Given the description of an element on the screen output the (x, y) to click on. 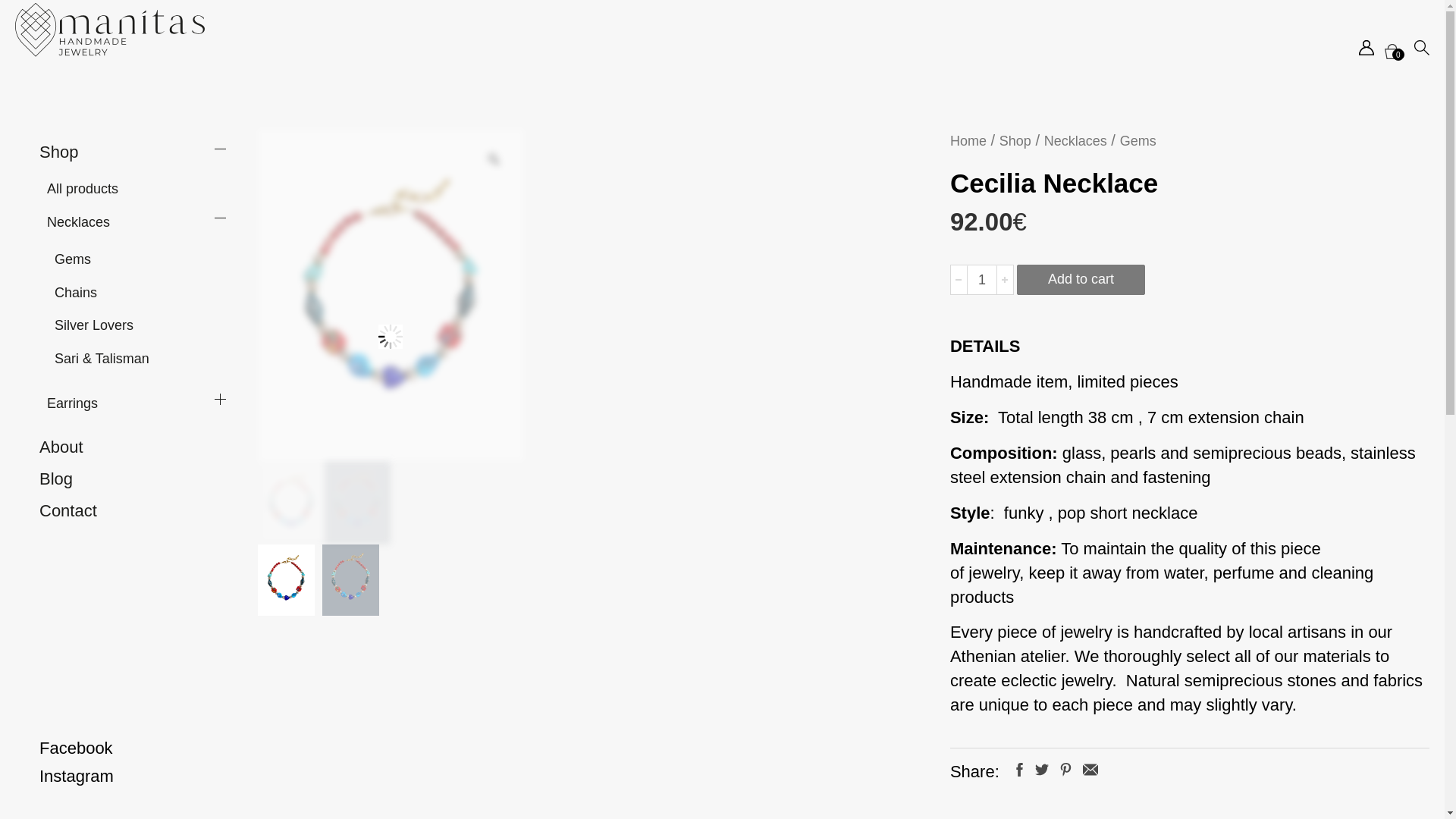
Necklaces (78, 222)
Instagram (133, 776)
Contact (68, 510)
About (60, 446)
manitas (109, 29)
All products (81, 188)
Add to cart (1080, 279)
Blog (55, 478)
Shop (1014, 140)
Earrings (71, 403)
